Given the description of an element on the screen output the (x, y) to click on. 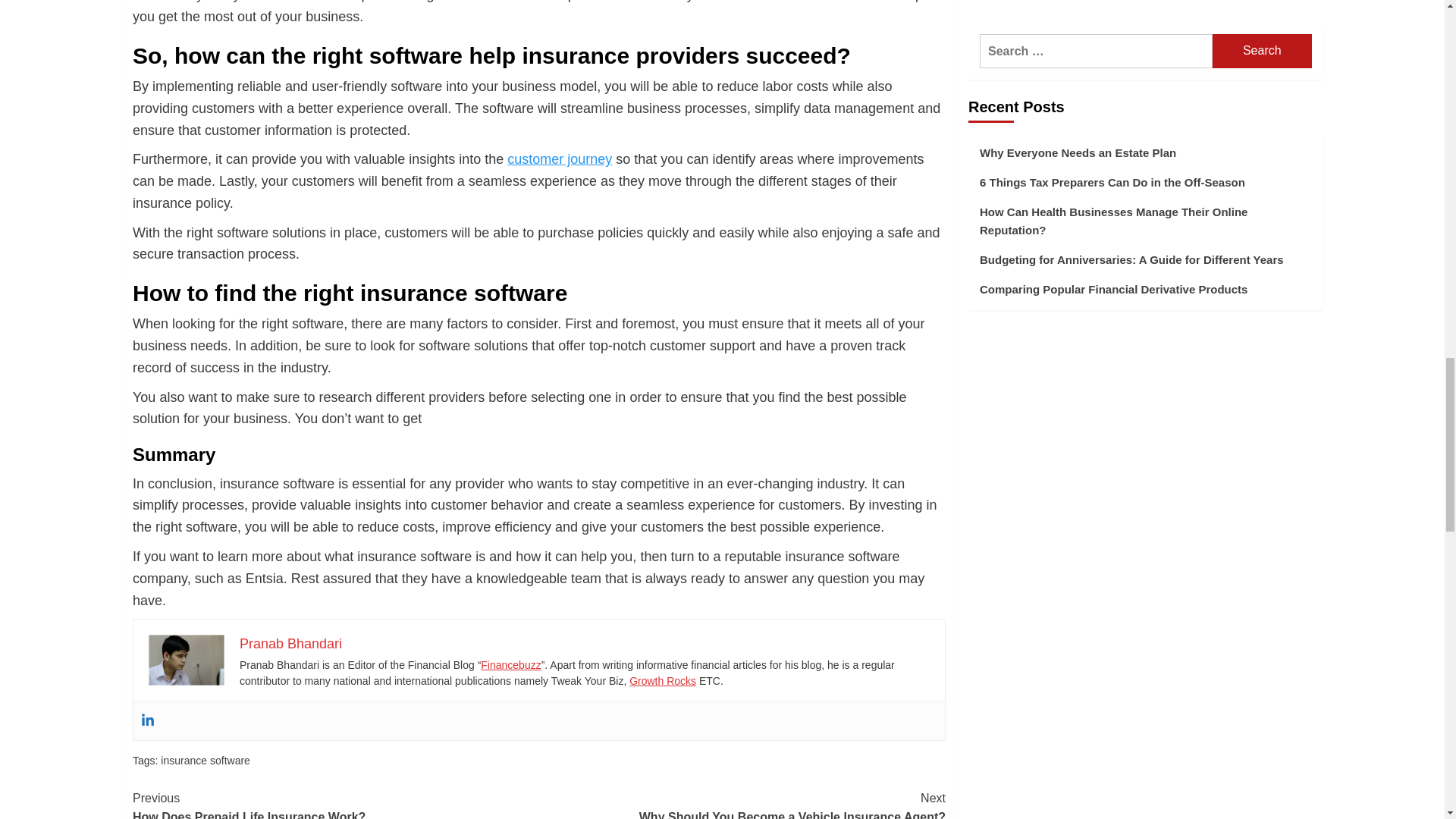
Pranab Bhandari (291, 643)
Financebuzz (510, 664)
customer journey (558, 159)
Growth Rocks (661, 680)
